Given the description of an element on the screen output the (x, y) to click on. 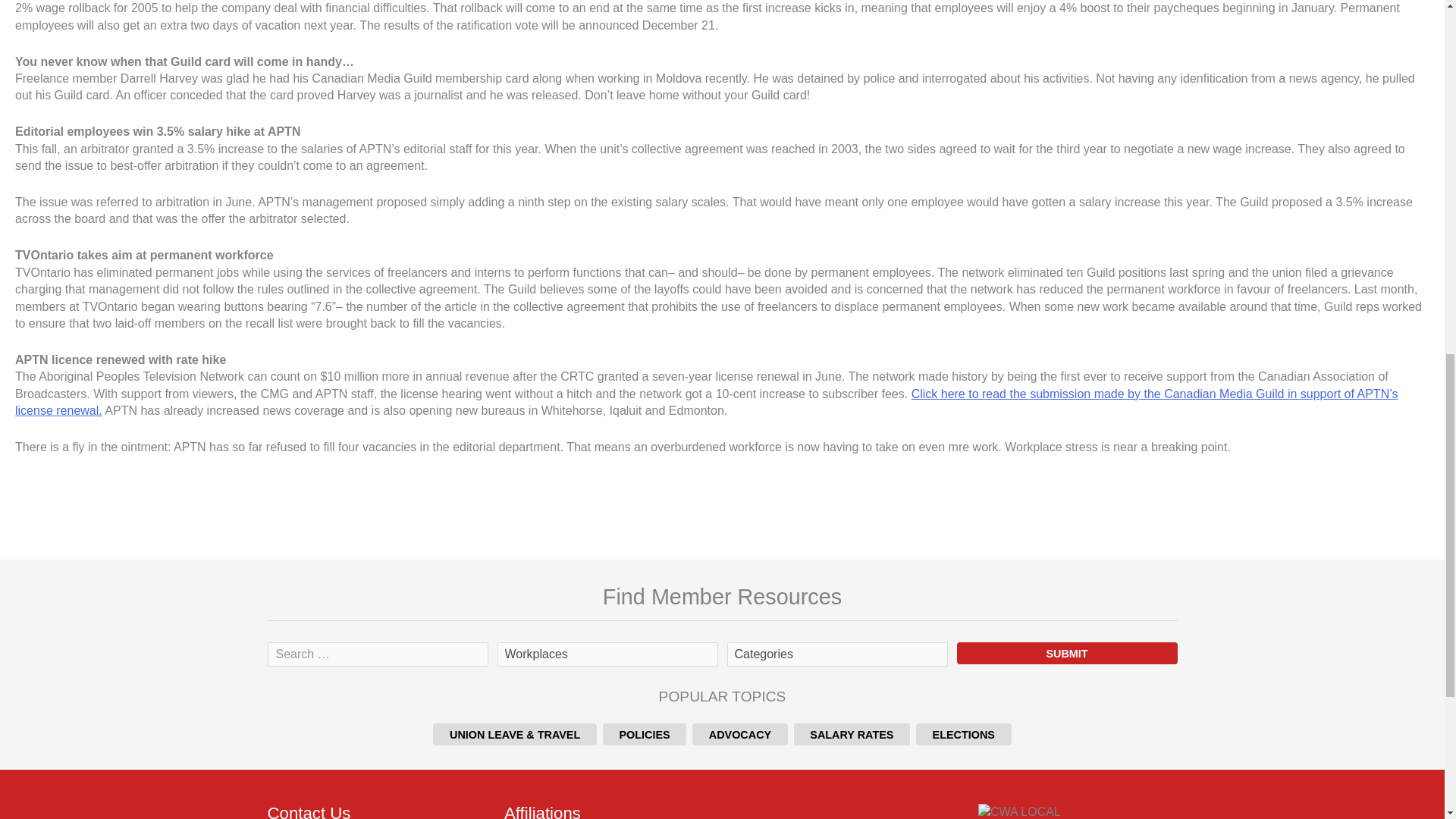
Submit (1066, 653)
Categories (835, 654)
Workplaces (606, 654)
